Given the description of an element on the screen output the (x, y) to click on. 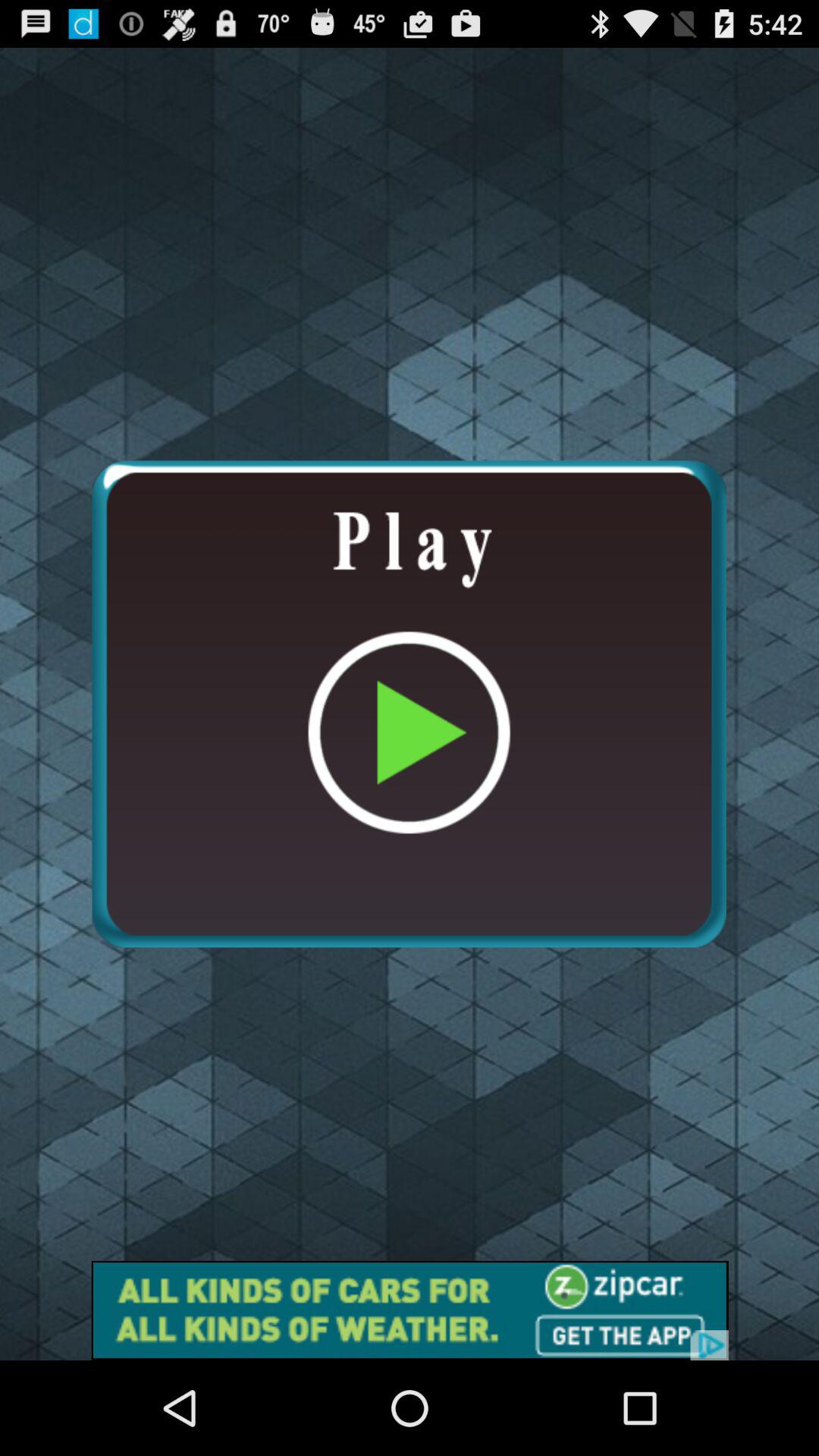
select the audio play (409, 703)
